Given the description of an element on the screen output the (x, y) to click on. 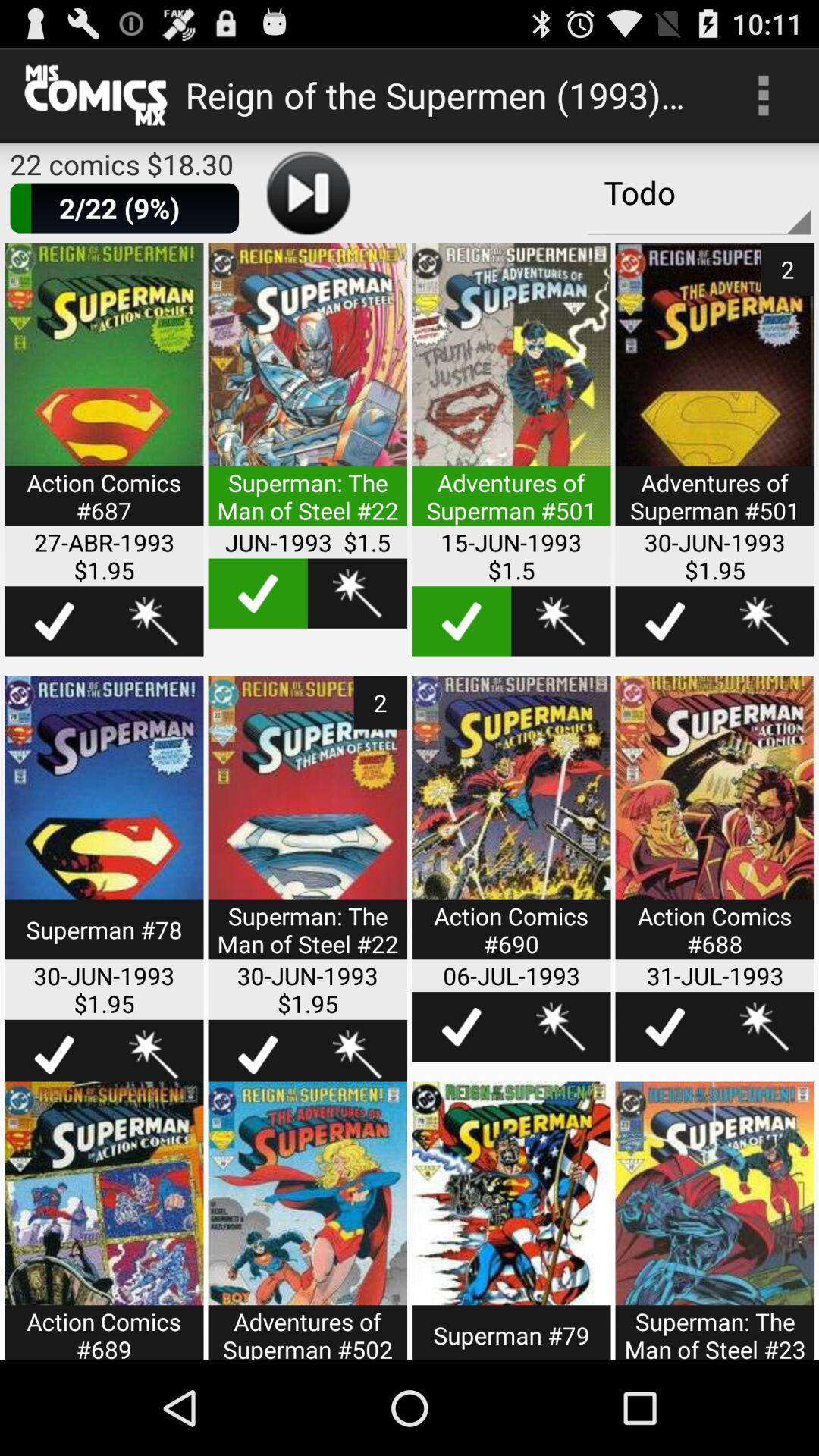
open up comic book (714, 827)
